Given the description of an element on the screen output the (x, y) to click on. 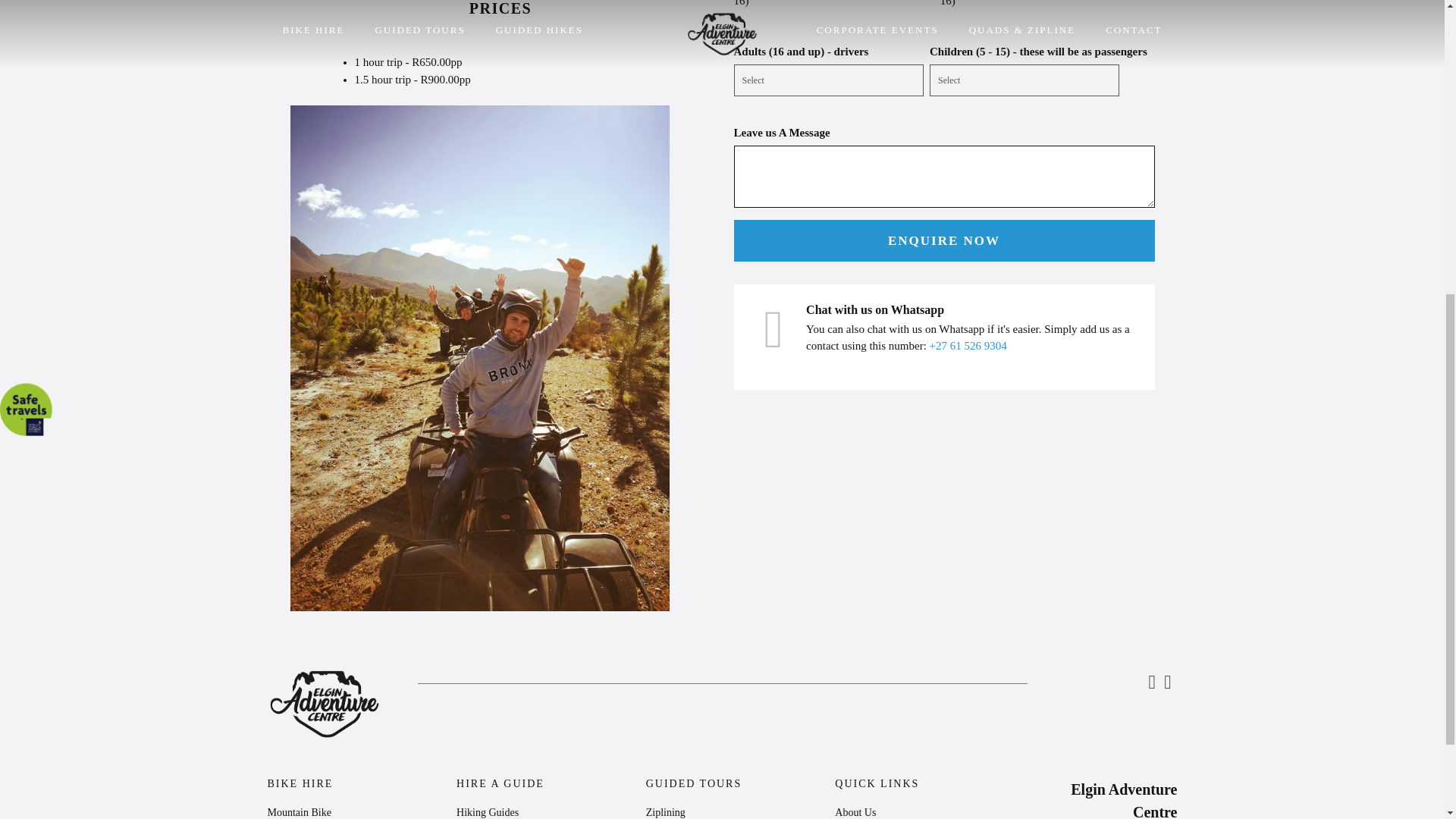
ENQUIRE NOW (943, 241)
Ziplining (665, 812)
Hiking Guides (487, 812)
Mountain Bike (298, 812)
